Given the description of an element on the screen output the (x, y) to click on. 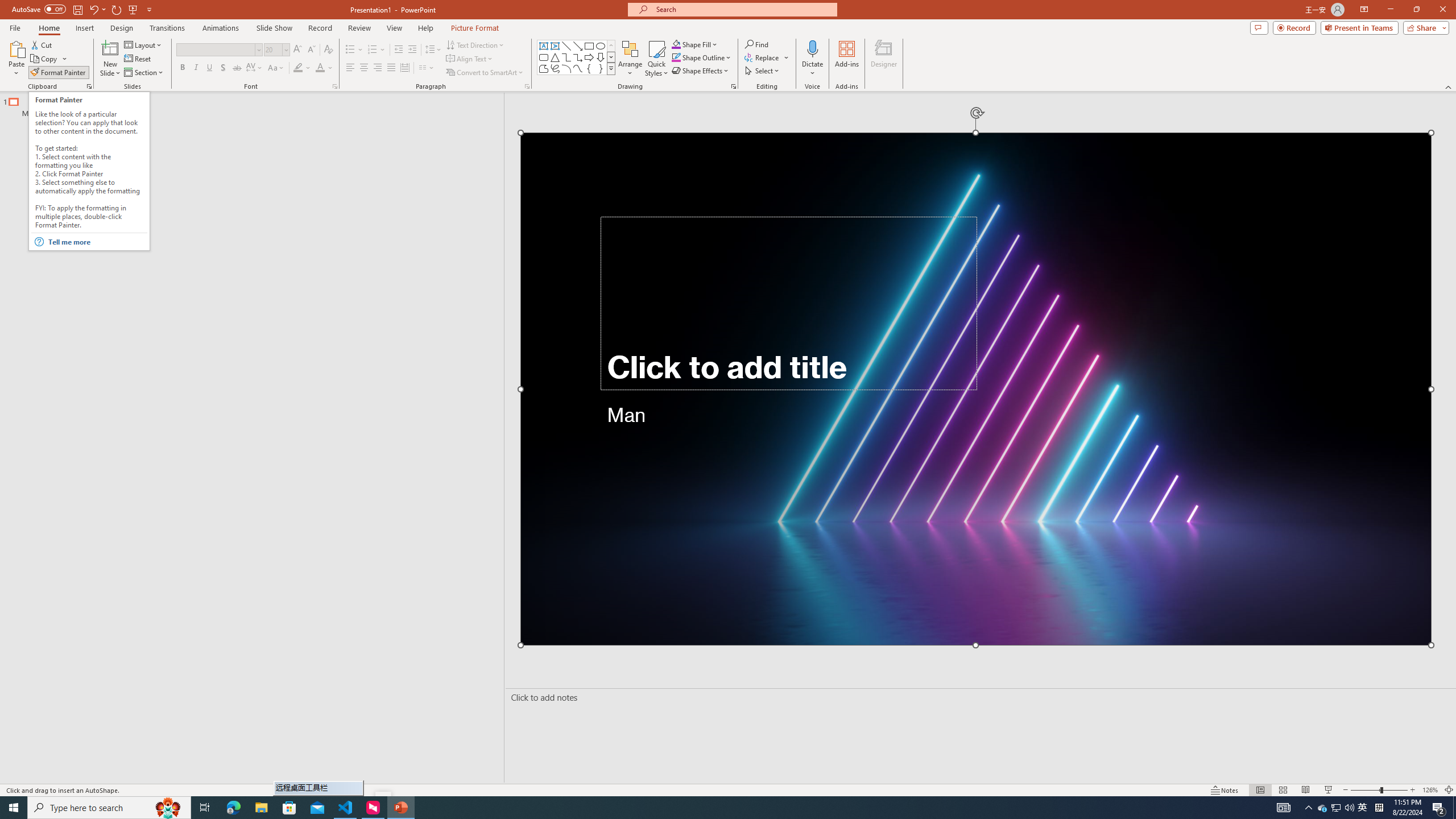
Right Brace (600, 68)
